Given the description of an element on the screen output the (x, y) to click on. 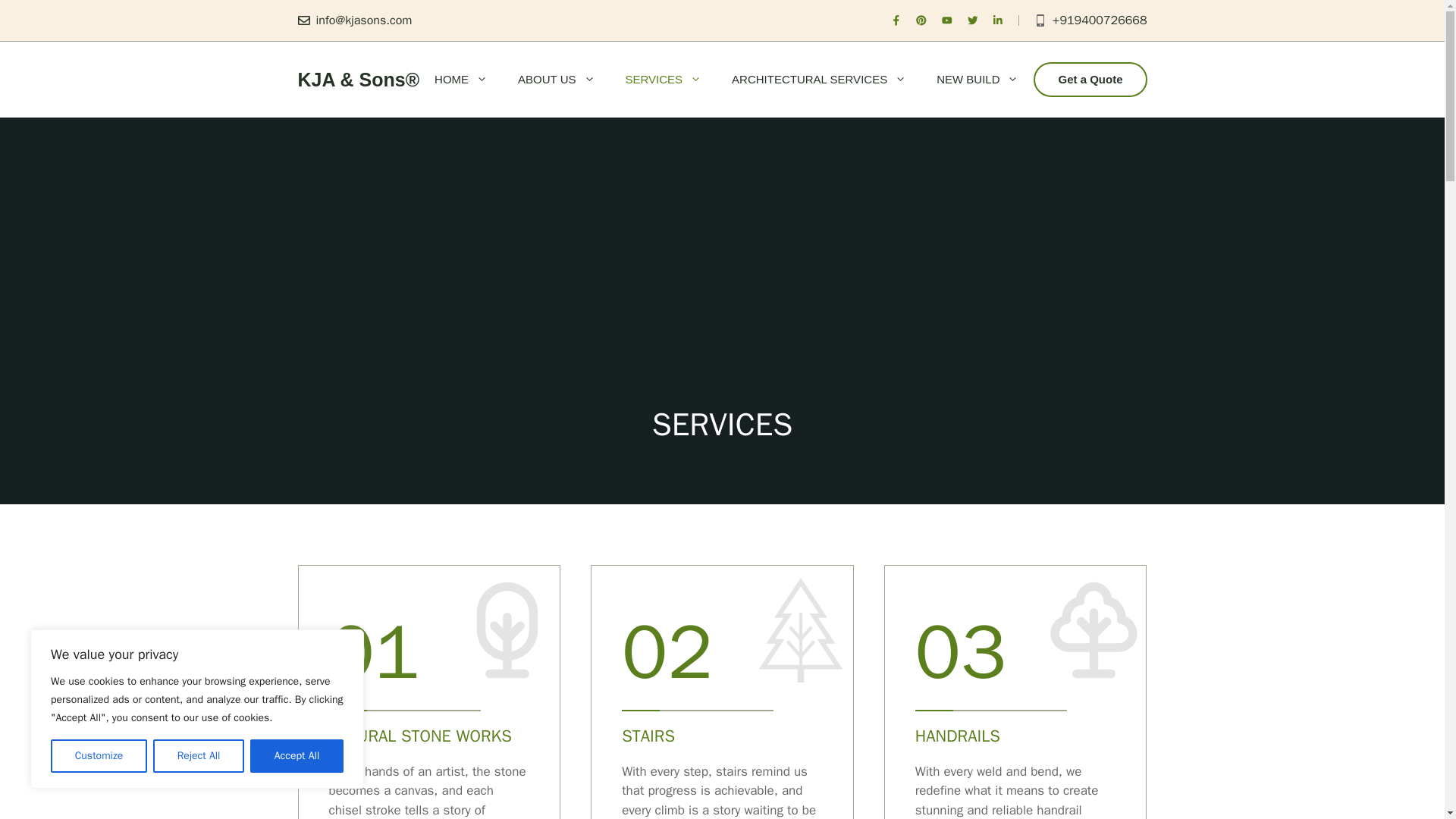
Reject All (198, 756)
HOME (460, 79)
ABOUT US (556, 79)
SERVICES (663, 79)
Accept All (296, 756)
Customize (98, 756)
